Given the description of an element on the screen output the (x, y) to click on. 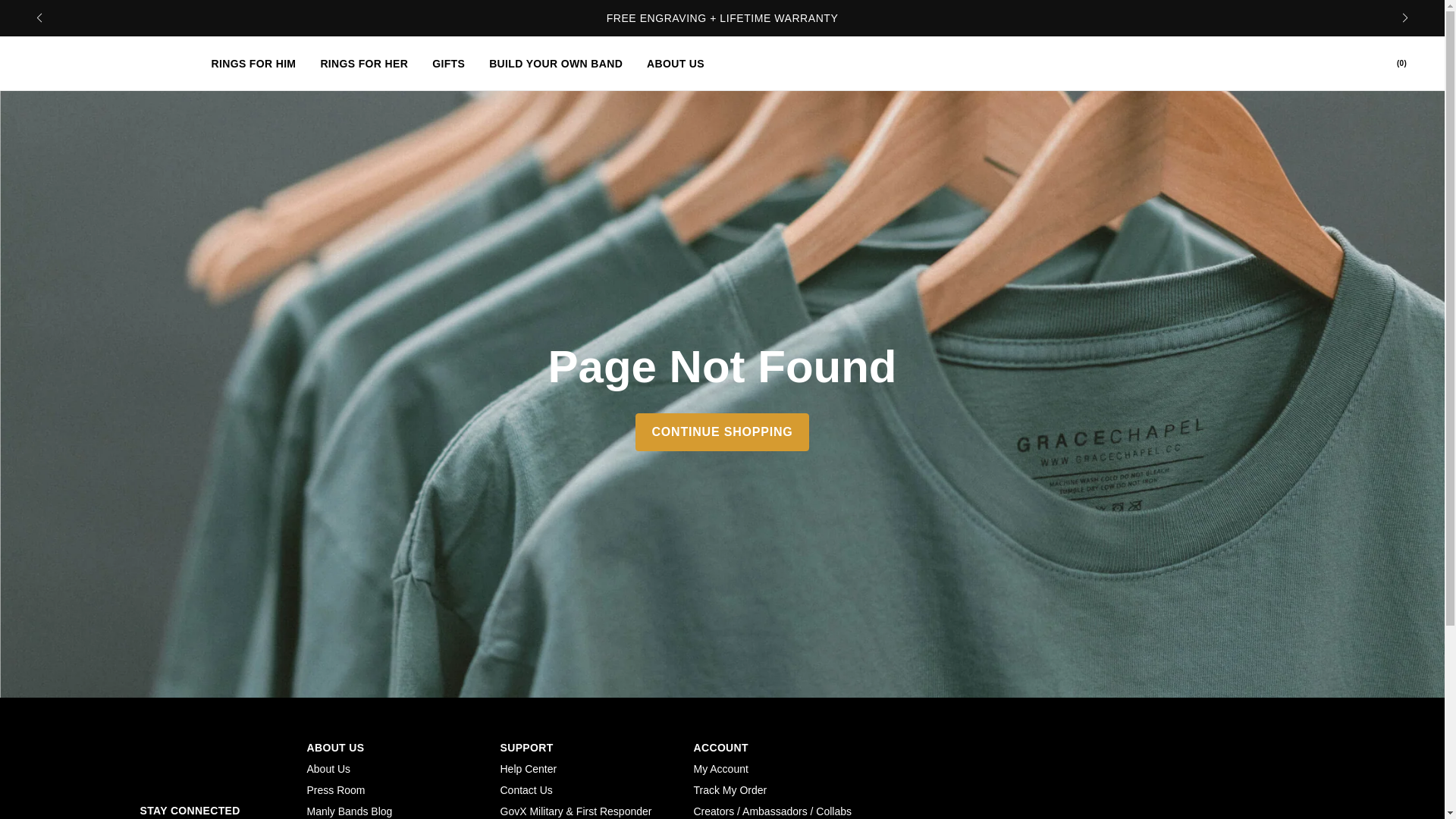
Help Center (528, 768)
ABOUT US (675, 63)
My Account (720, 768)
Contact Us (526, 789)
Manly Bands Blog (348, 811)
CONTINUE SHOPPING (721, 431)
Press Room (335, 789)
GIFTS (448, 63)
RINGS FOR HIM (252, 63)
BUILD YOUR OWN BAND (555, 63)
About Us (327, 768)
Track My Order (730, 789)
RINGS FOR HER (363, 63)
